Given the description of an element on the screen output the (x, y) to click on. 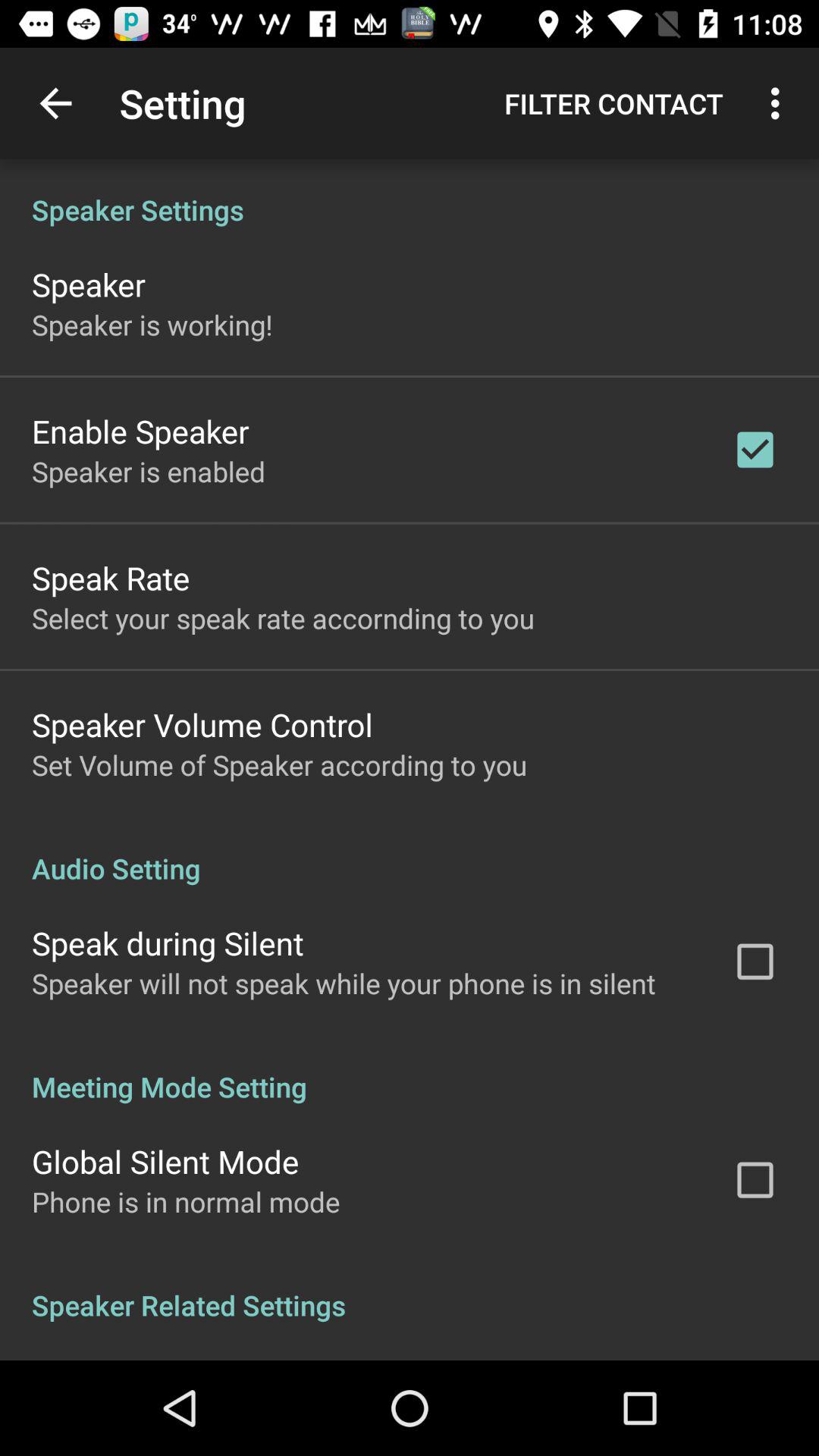
click on check box which is beside speak during silent (755, 961)
